Given the description of an element on the screen output the (x, y) to click on. 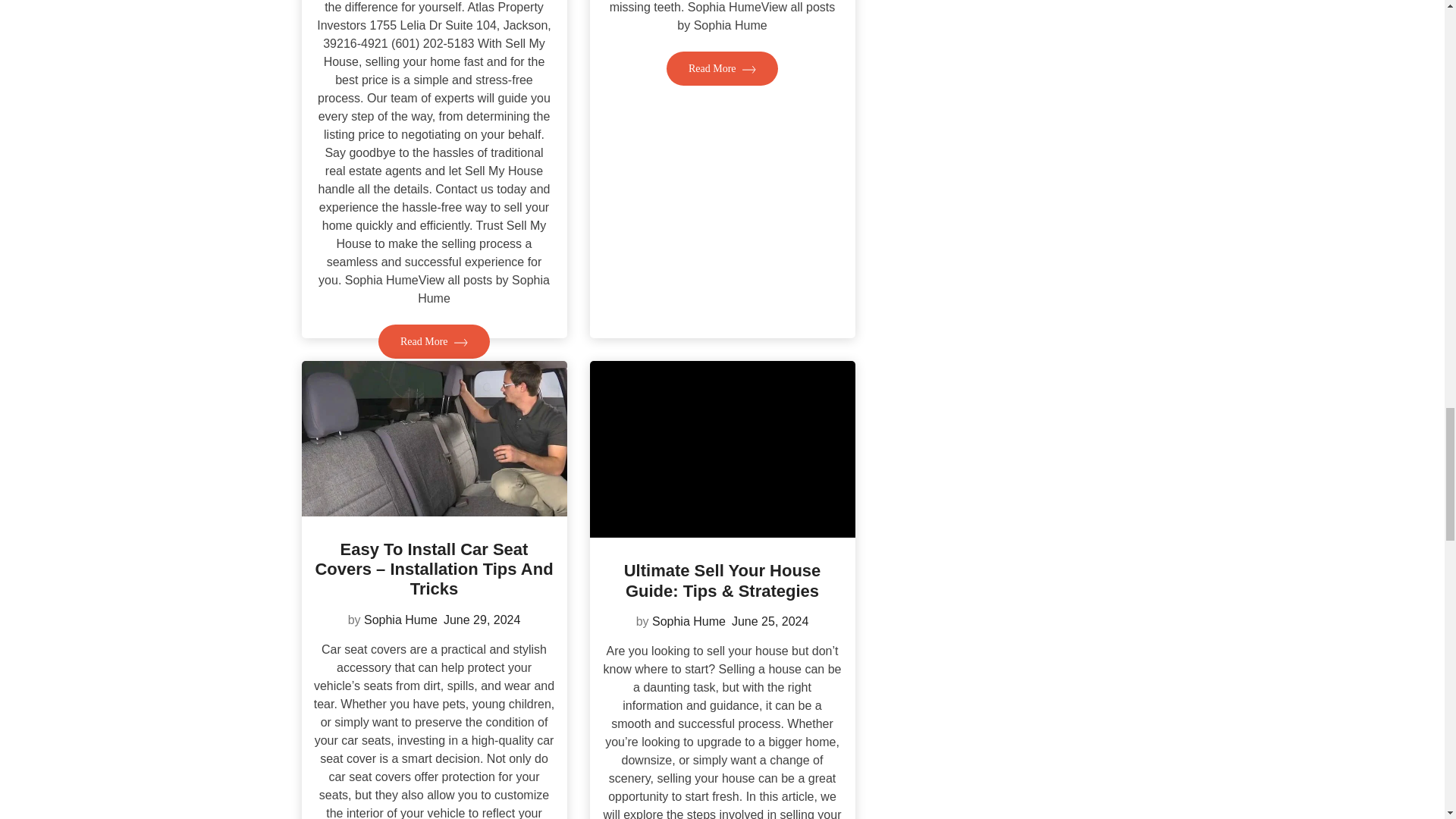
June 29, 2024 (481, 619)
June 25, 2024 (770, 621)
Sophia Hume (401, 619)
Read More (721, 68)
Sophia Hume (688, 621)
Read More (433, 341)
